Given the description of an element on the screen output the (x, y) to click on. 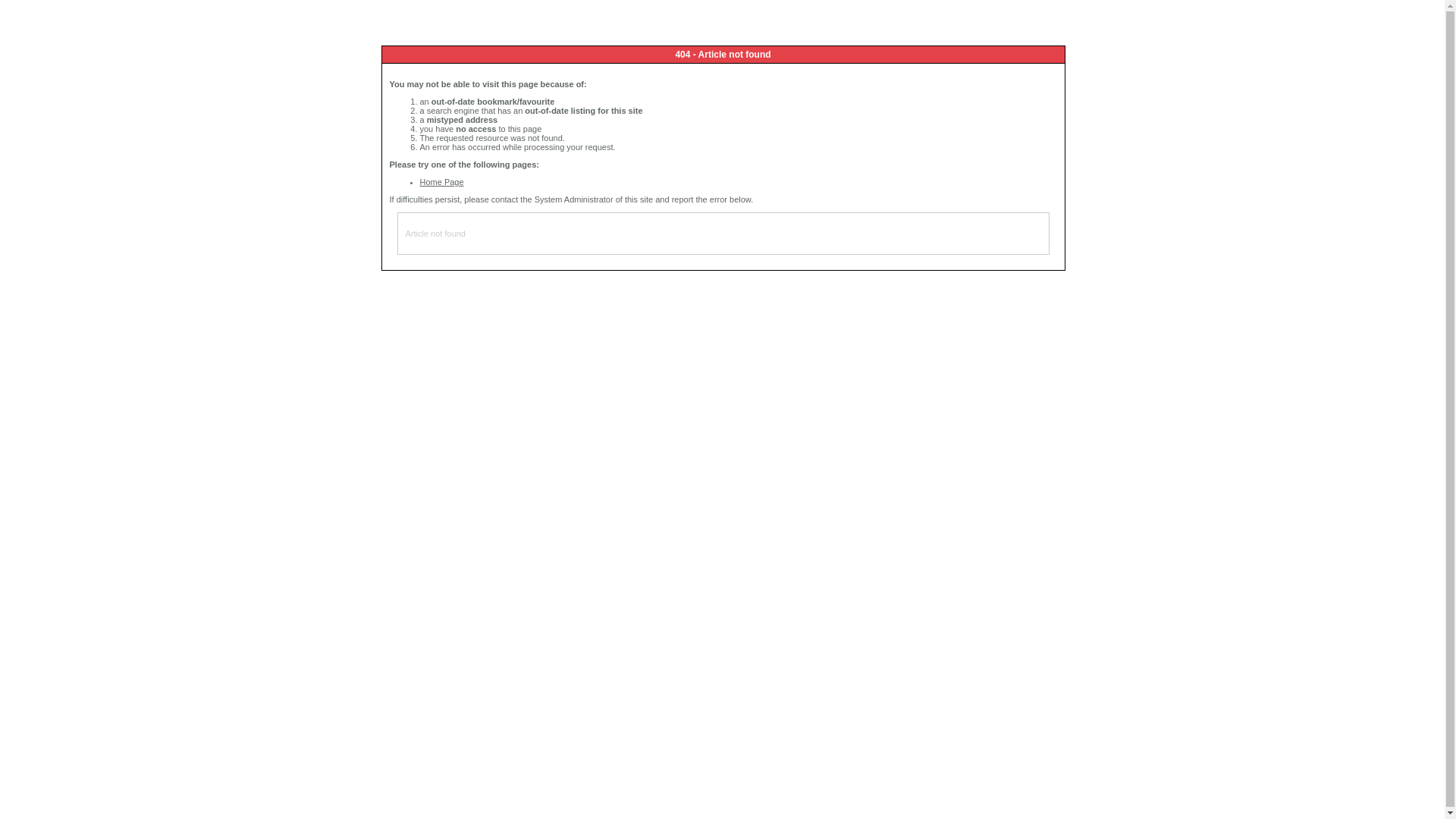
Home Page Element type: text (442, 181)
